Given the description of an element on the screen output the (x, y) to click on. 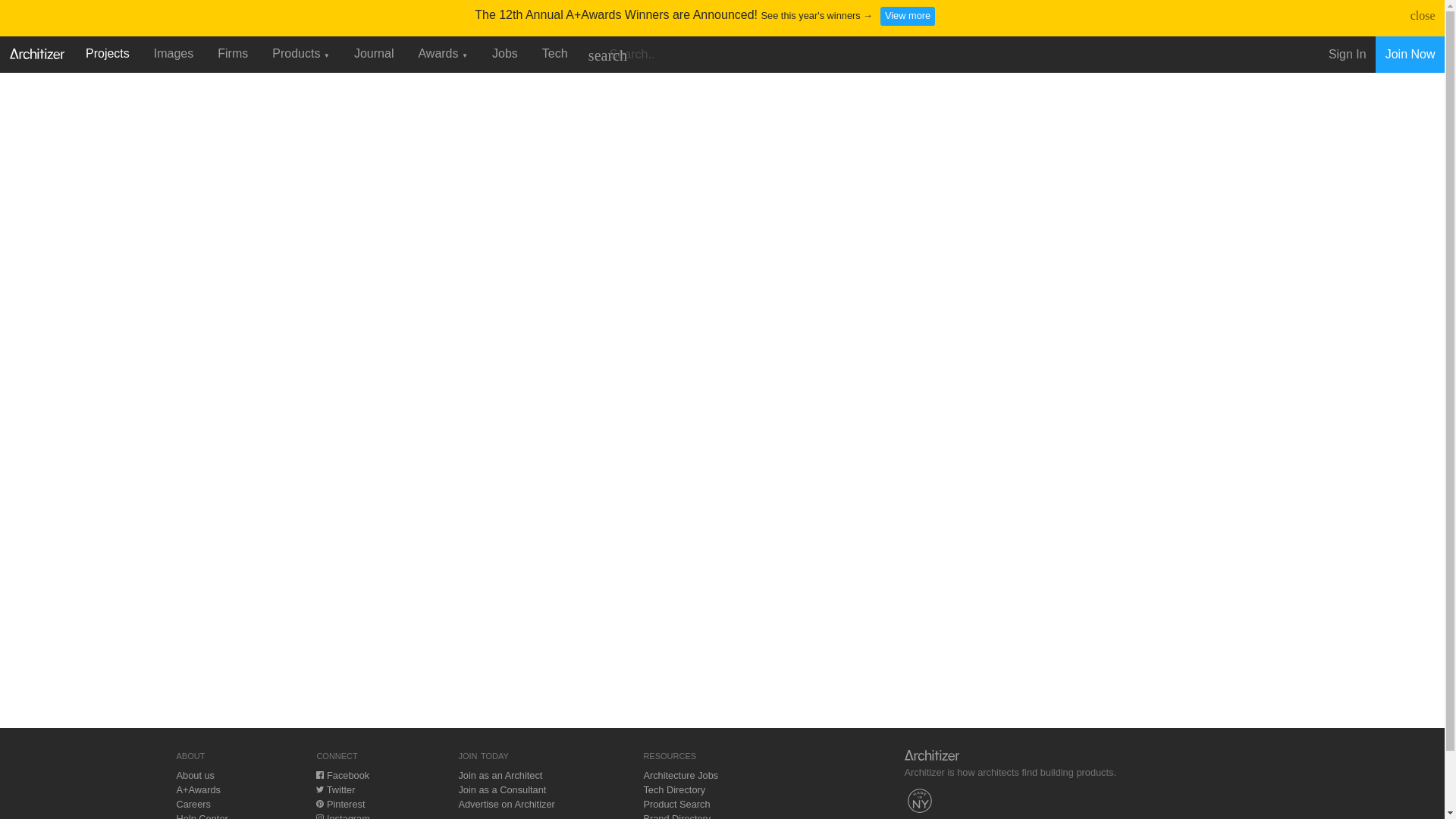
Twitter icon (319, 789)
Architecture Jobs (680, 775)
Images (173, 53)
Pinterest icon (319, 803)
Facebook (342, 775)
Facebook icon (319, 774)
Jobs (504, 53)
Instagram (342, 816)
About us (195, 775)
Projects (107, 53)
